Given the description of an element on the screen output the (x, y) to click on. 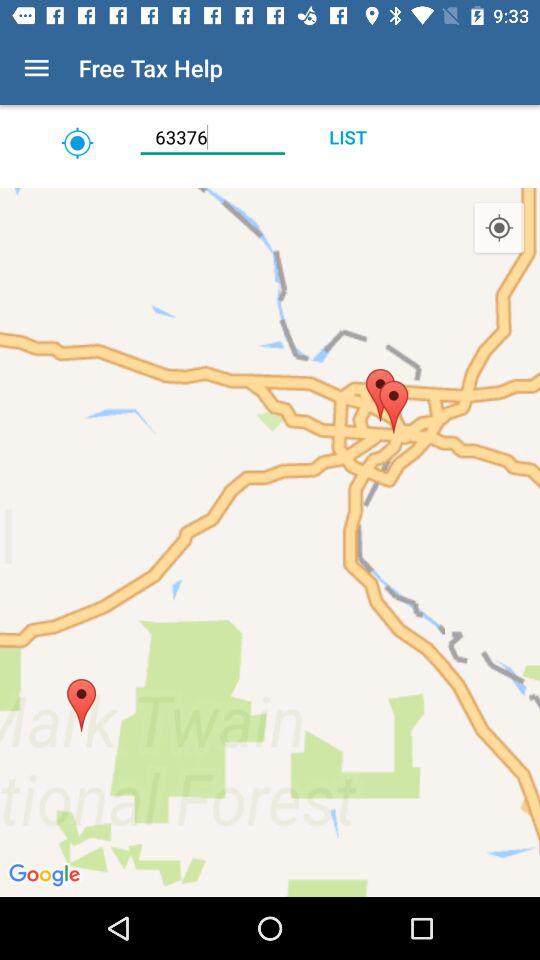
launch the icon to the left of the 63376 item (77, 142)
